Given the description of an element on the screen output the (x, y) to click on. 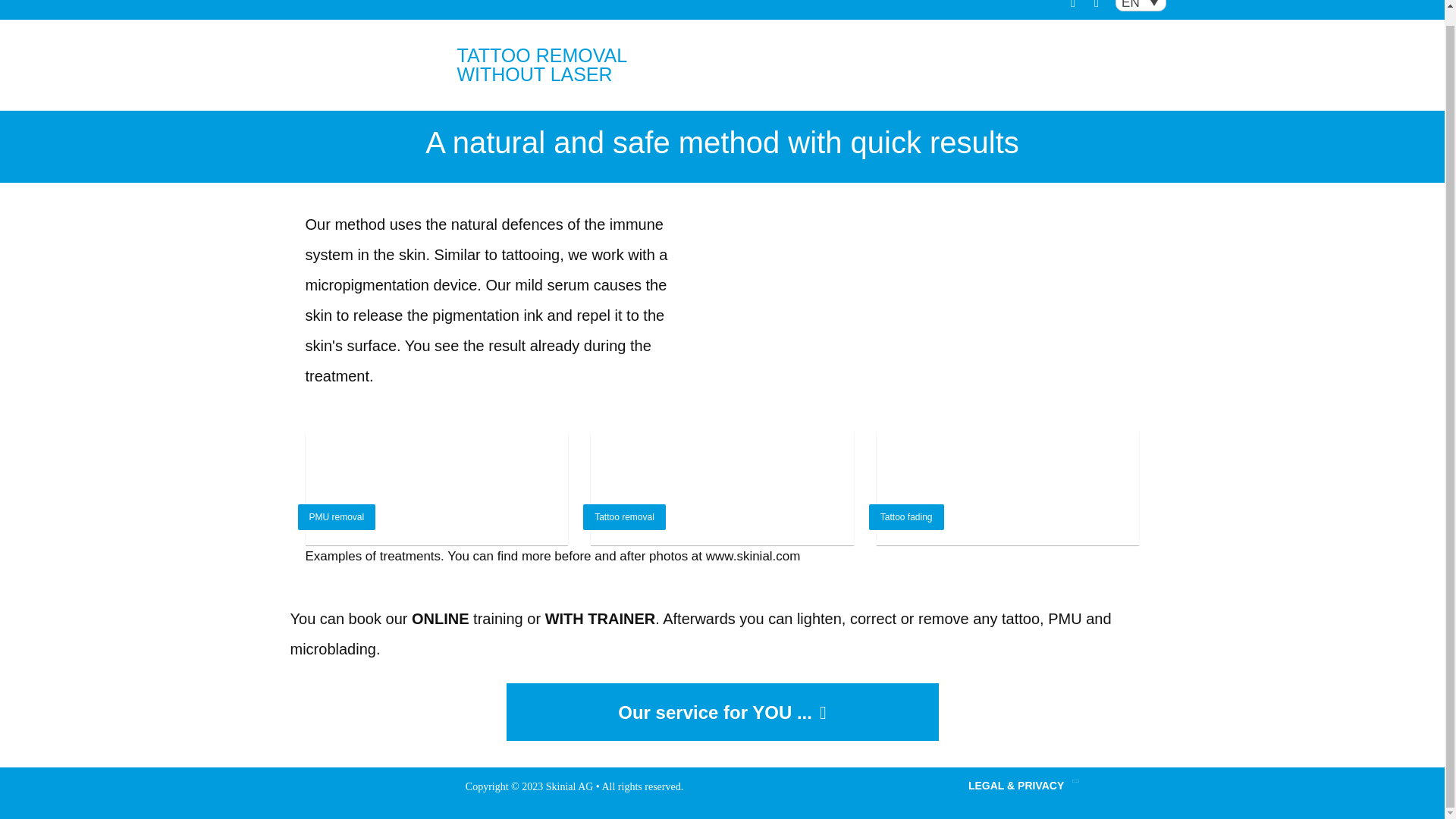
Video 7 (943, 265)
Foto 01.07.22, 09 35 50 (435, 488)
Foto 28.06.22, 14 25 51 (722, 488)
Foto 01.07.22, 10 06 09 (1008, 488)
Our service for YOU ... (722, 712)
Our service for YOU ... (722, 712)
Tattoo Removal Without Laser (362, 76)
EN (1140, 5)
